Given the description of an element on the screen output the (x, y) to click on. 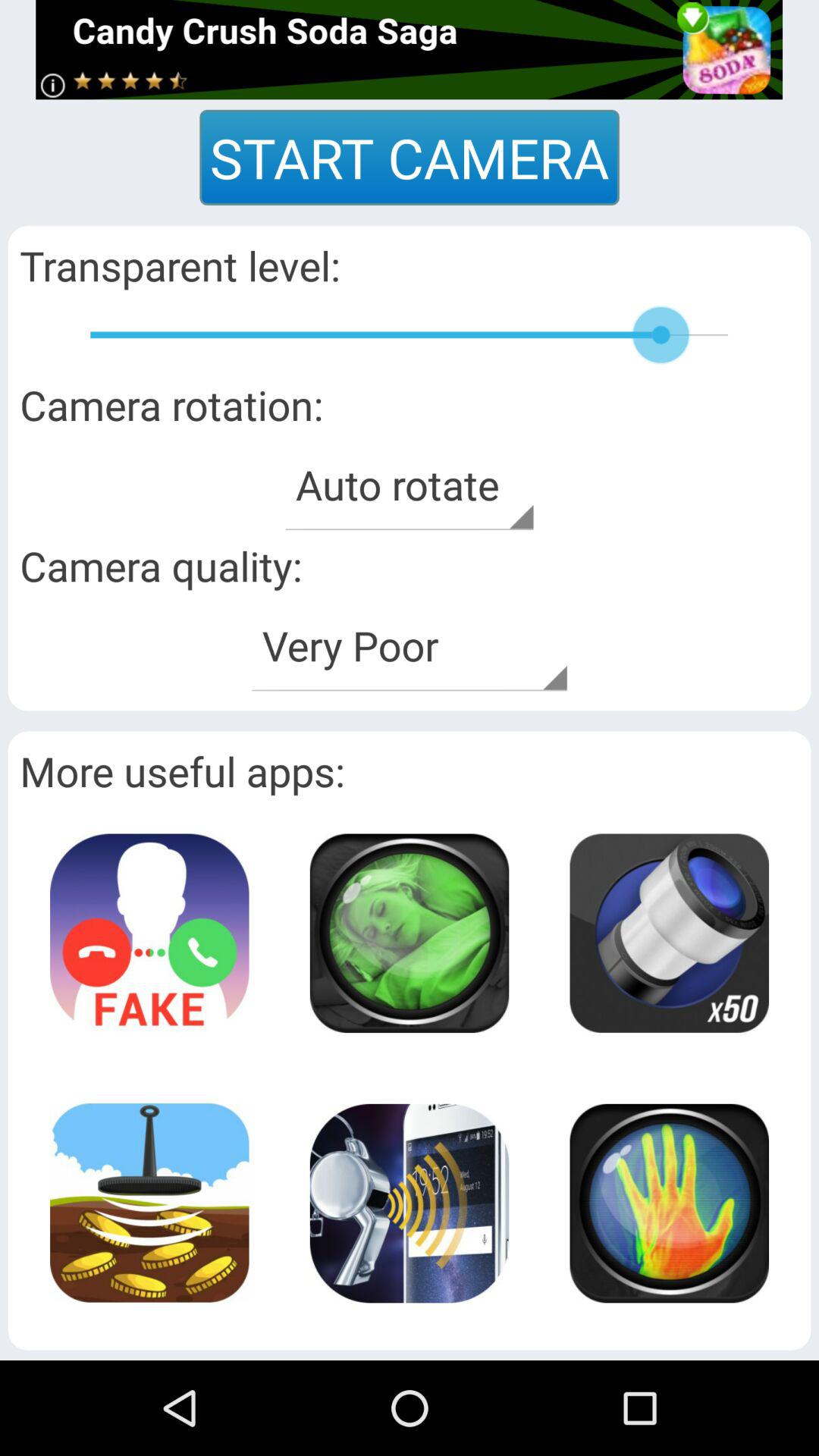
go to advertisement source (408, 49)
